Given the description of an element on the screen output the (x, y) to click on. 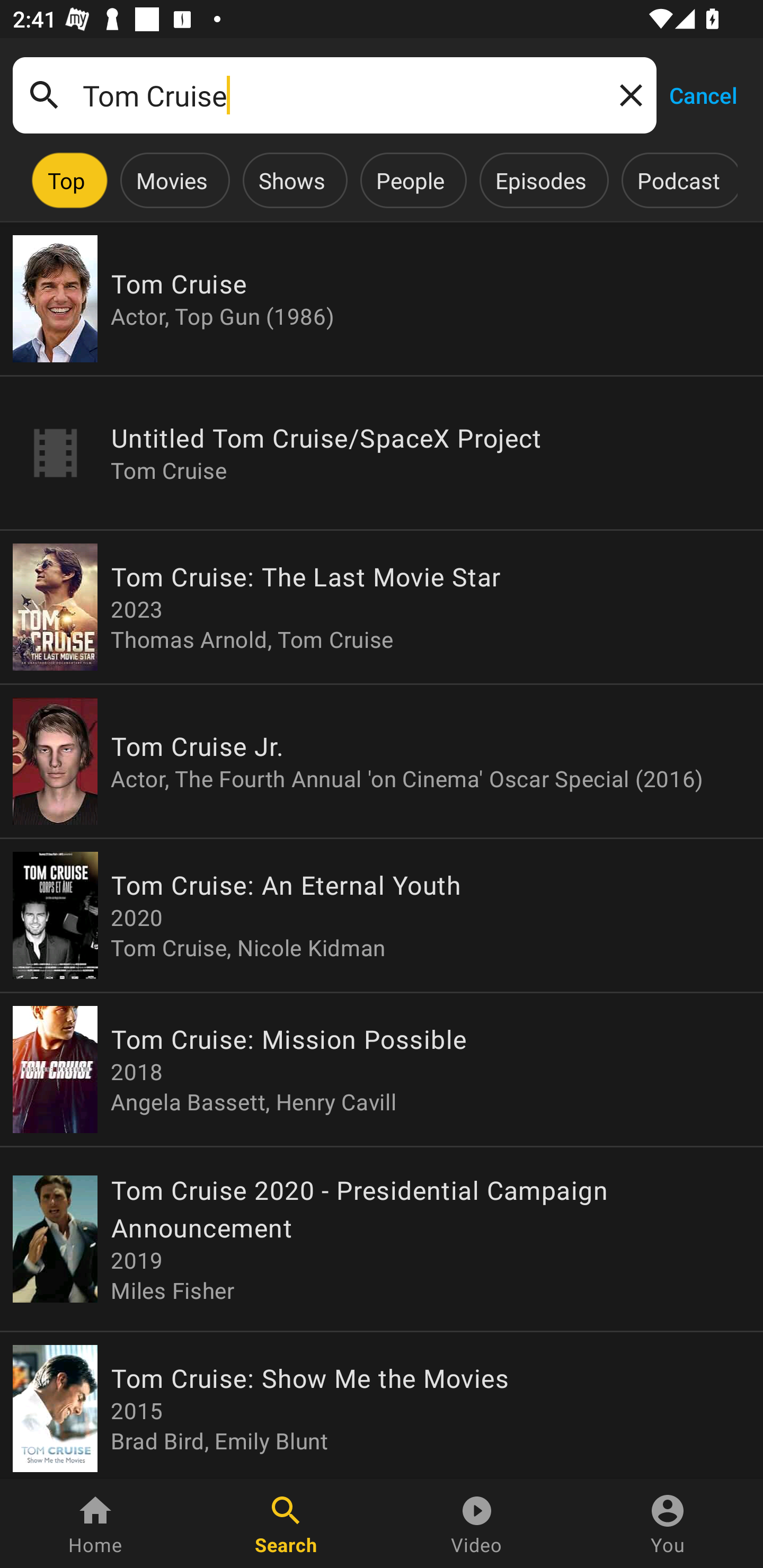
Clear query (627, 94)
Cancel (703, 94)
Tom Cruise (334, 95)
Top (66, 180)
Movies (171, 180)
Shows (291, 180)
People (410, 180)
Episodes (540, 180)
Podcast (678, 180)
Tom Cruise Actor, Top Gun (1986) (381, 298)
Untitled Tom Cruise/SpaceX Project Tom Cruise (381, 452)
Home (95, 1523)
Video (476, 1523)
You (667, 1523)
